Given the description of an element on the screen output the (x, y) to click on. 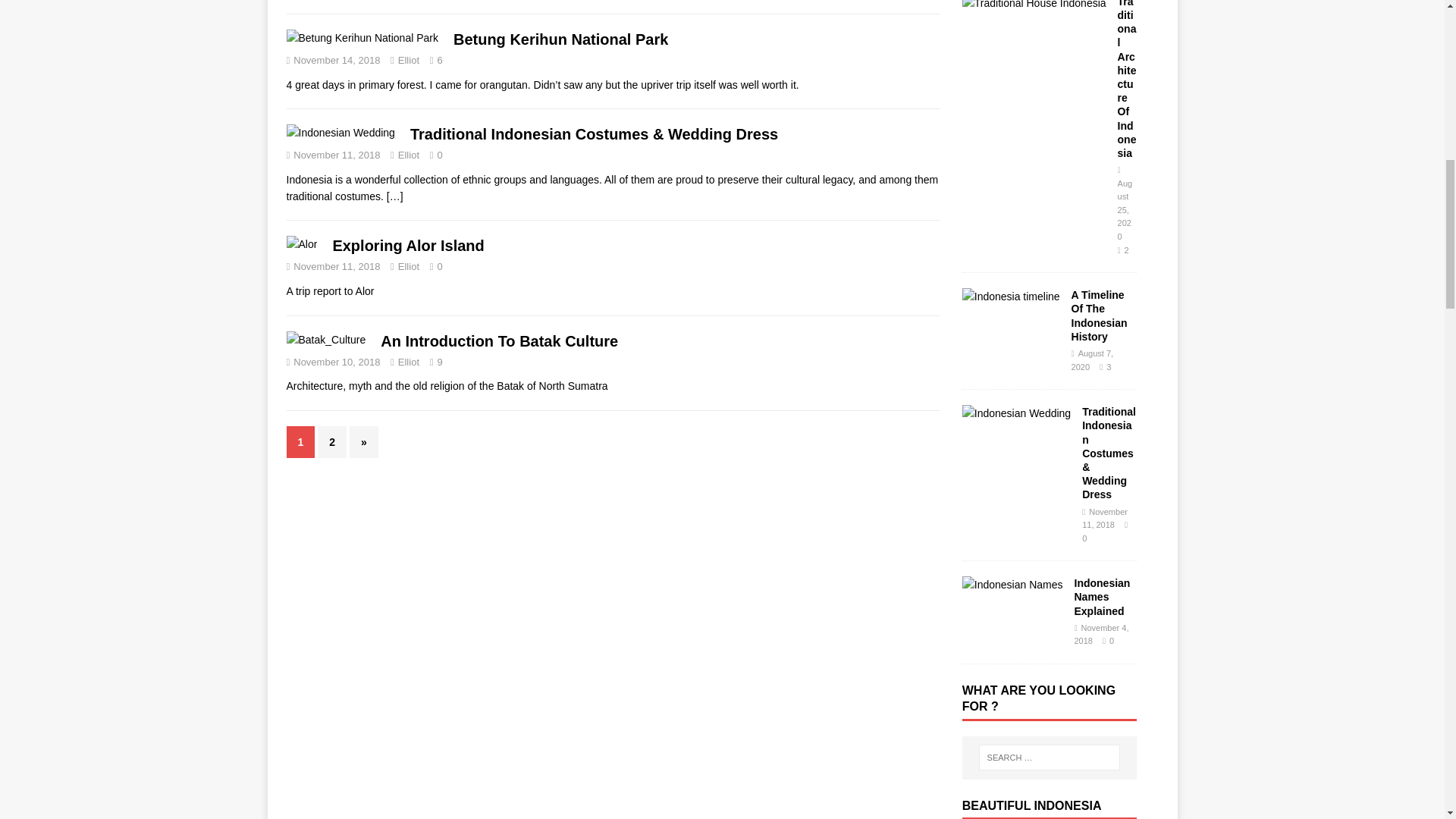
Indonesian Names Explained (1101, 596)
Traditional Architecture Of Indonesia (1034, 4)
Indonesian Names Explained (1012, 584)
A Timeline Of The Indonesian History (1098, 316)
A Timeline Of The Indonesian History (1010, 296)
